Given the description of an element on the screen output the (x, y) to click on. 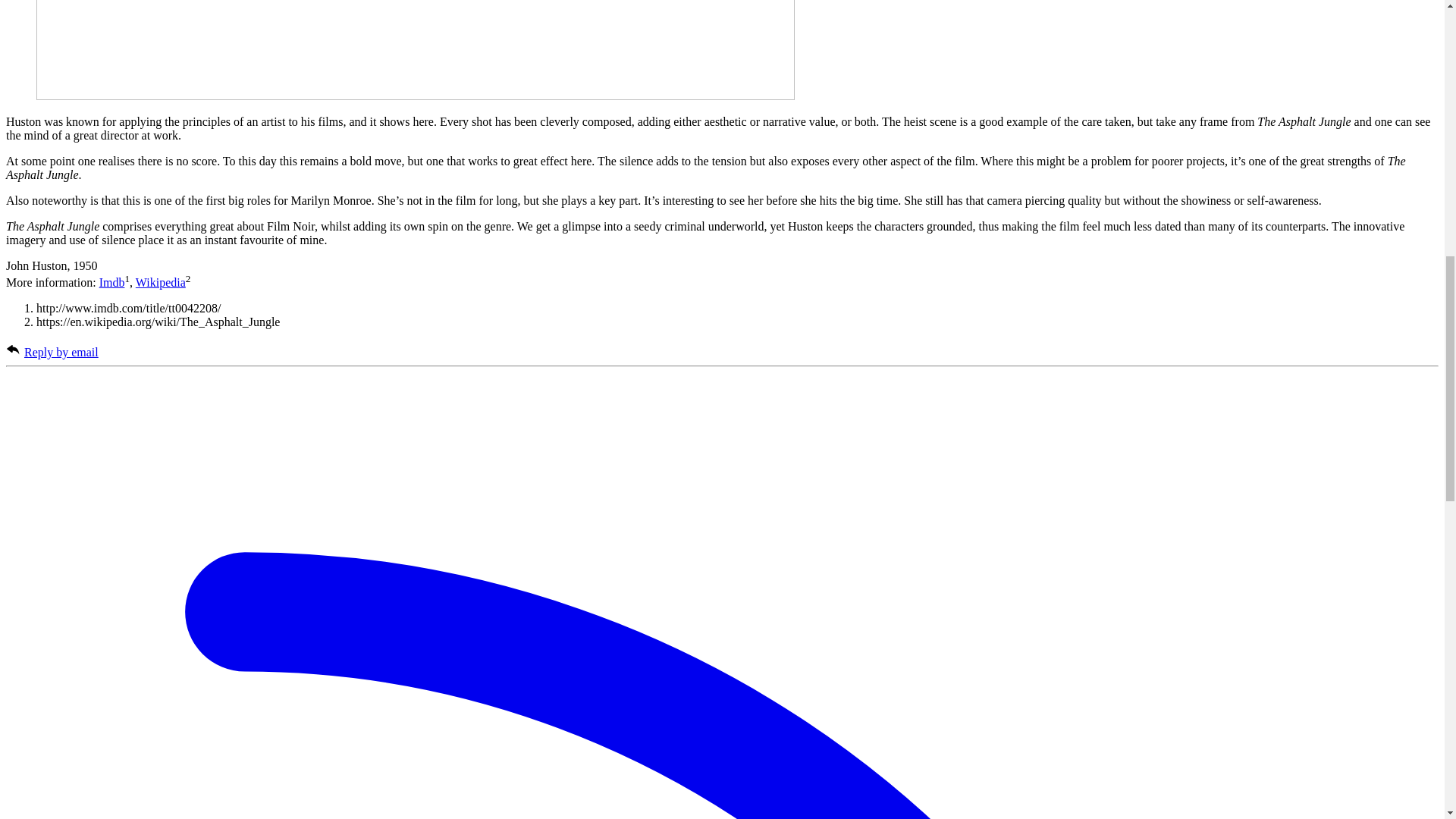
Wikipedia (160, 282)
Reply by email (61, 351)
Imdb (112, 282)
